Given the description of an element on the screen output the (x, y) to click on. 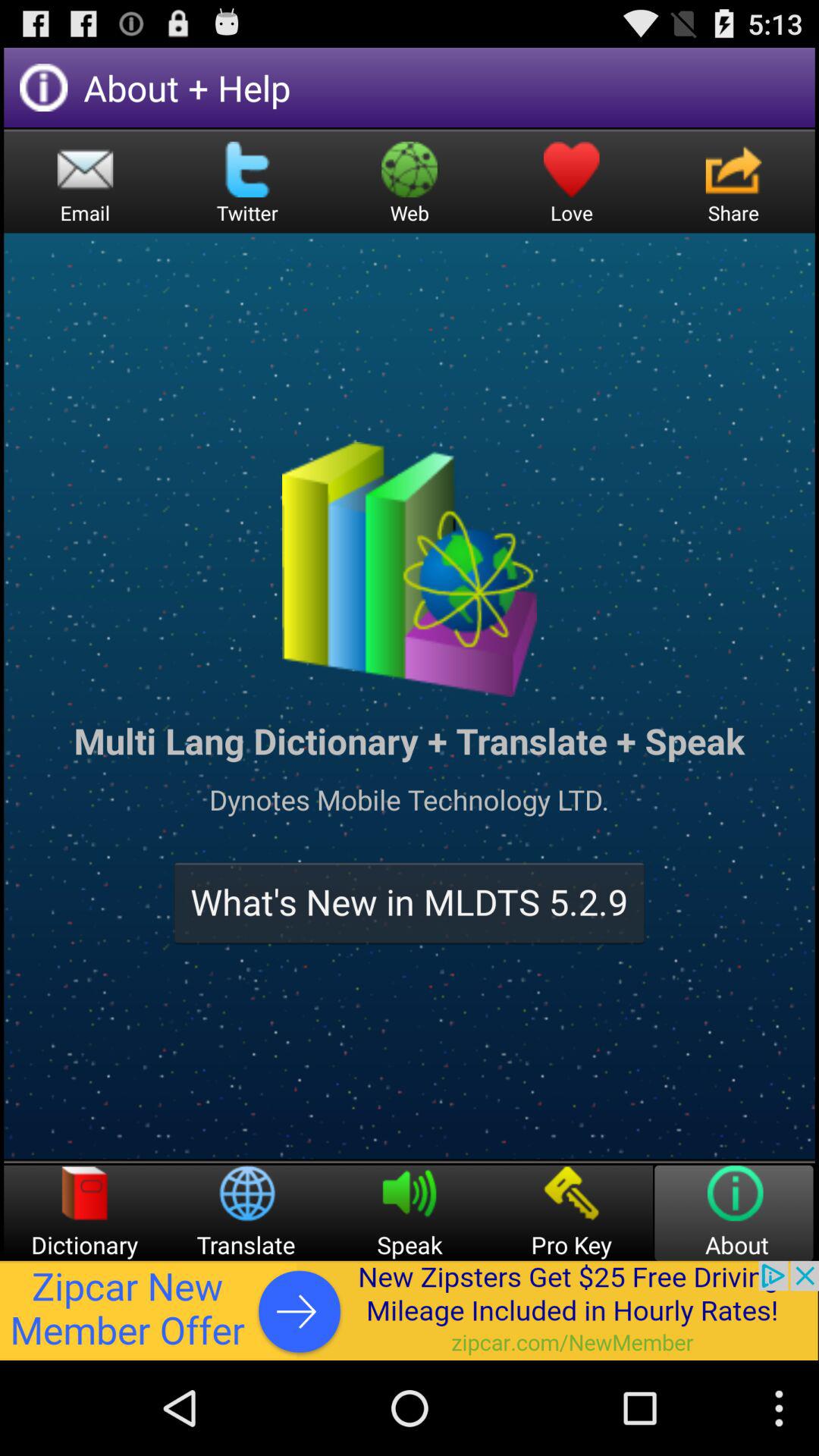
interact with advertisement (409, 1310)
